Given the description of an element on the screen output the (x, y) to click on. 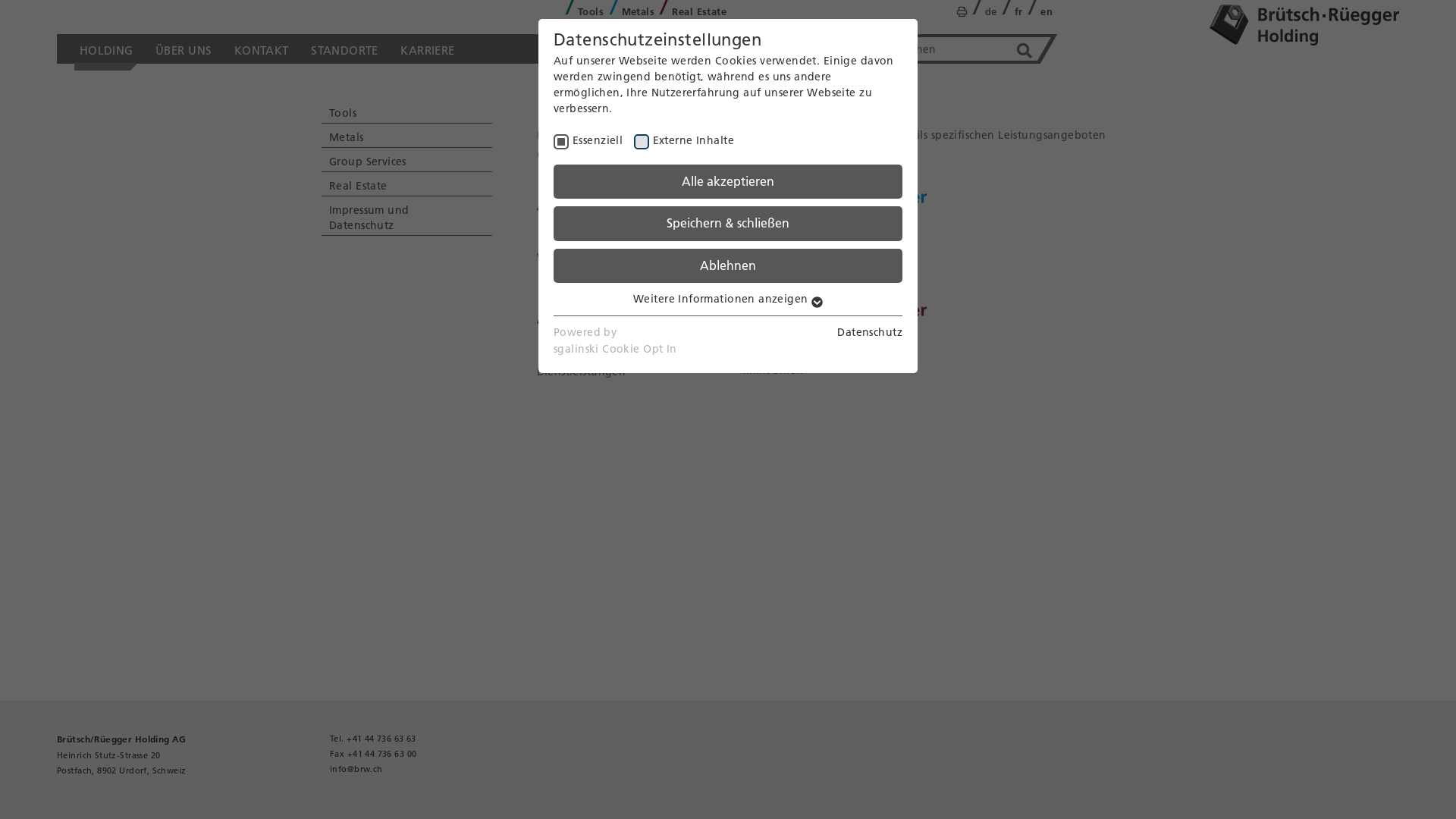
Tools Element type: text (590, 11)
KARRIERE Element type: text (427, 48)
KONTAKT Element type: text (260, 48)
Tools Element type: text (406, 110)
Weitere Informationen anzeigen Element type: text (727, 298)
Impressum und Datenschutz Element type: text (406, 215)
Real Estate Element type: text (406, 183)
Alle akzeptieren Element type: text (727, 181)
Group Services Element type: text (406, 159)
fr Element type: text (1018, 11)
Stahl und Metall Element type: text (787, 256)
Datenschutz Element type: text (869, 331)
Dienstleistungen Element type: text (581, 371)
STANDORTE Element type: text (344, 48)
Immobilien Element type: text (773, 369)
HOLDING Element type: text (106, 48)
Metals Element type: text (638, 11)
Metals Element type: text (406, 135)
Ablehnen Element type: text (727, 265)
Powered by
sgalinski Cookie Opt In Element type: text (615, 340)
Search Element type: text (1024, 51)
de Element type: text (990, 11)
info@brw.ch Element type: text (355, 768)
en Element type: text (1046, 11)
Real Estate Element type: text (698, 11)
Werkzeuge und Normteile Element type: text (606, 256)
